Given the description of an element on the screen output the (x, y) to click on. 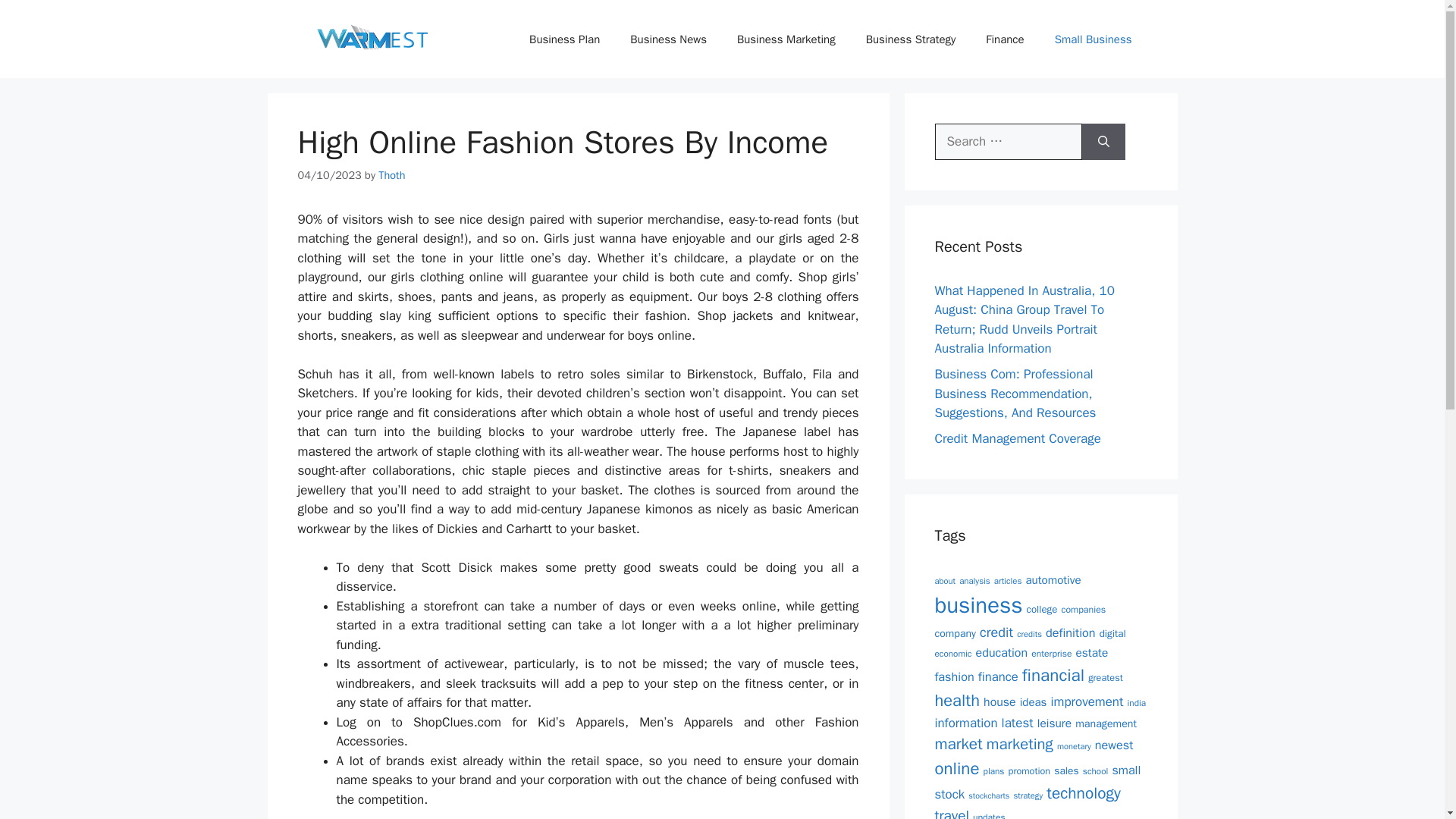
education (1001, 652)
college (1042, 608)
credits (1029, 633)
digital (1112, 633)
about (944, 580)
Business Strategy (910, 39)
Search for: (1007, 141)
companies (1083, 609)
Thoth (391, 174)
Business Marketing (786, 39)
